Given the description of an element on the screen output the (x, y) to click on. 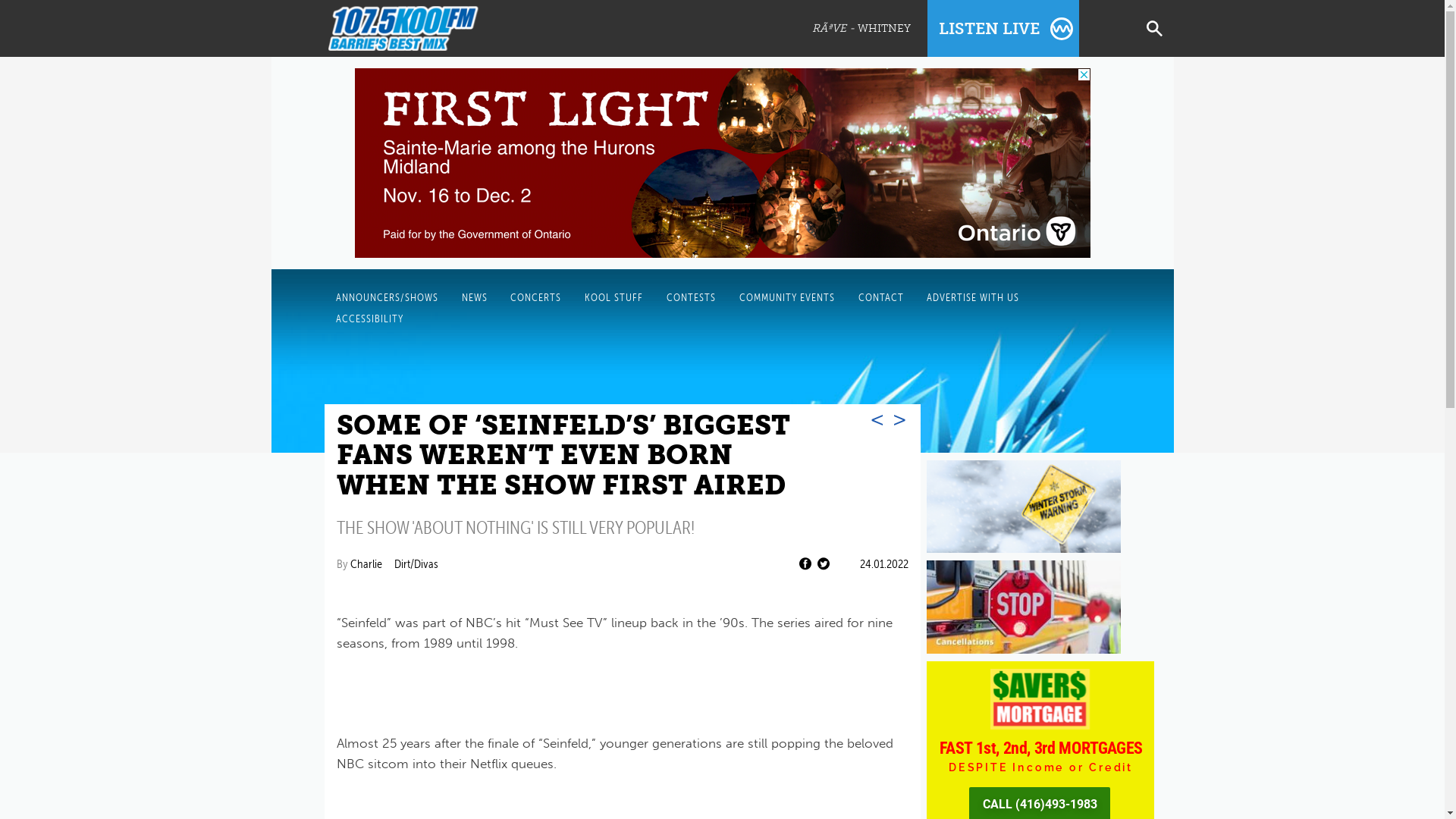
SKIP TO CONTENT Element type: text (323, 296)
COMMUNITY EVENTS Element type: text (786, 297)
ADVERTISE WITH US Element type: text (972, 297)
KOOL STUFF Element type: text (613, 297)
> Element type: text (899, 418)
< Element type: text (877, 418)
ANNOUNCERS/SHOWS Element type: text (386, 297)
Dirt/Divas Element type: text (416, 563)
Twitter Element type: text (823, 564)
24.01.2022 Element type: text (883, 563)
NEWS Element type: text (474, 297)
Facebook Element type: text (805, 564)
Charlie Element type: text (366, 563)
CONCERTS Element type: text (535, 297)
3rd party ad content Element type: hover (722, 162)
ACCESSIBILITY Element type: text (369, 318)
Search Element type: text (1154, 28)
107.5 KOOL FM Element type: text (423, 28)
Search Element type: text (38, 15)
CONTESTS Element type: text (690, 297)
CONTACT Element type: text (880, 297)
LISTEN LIVE Element type: text (1002, 28)
